Given the description of an element on the screen output the (x, y) to click on. 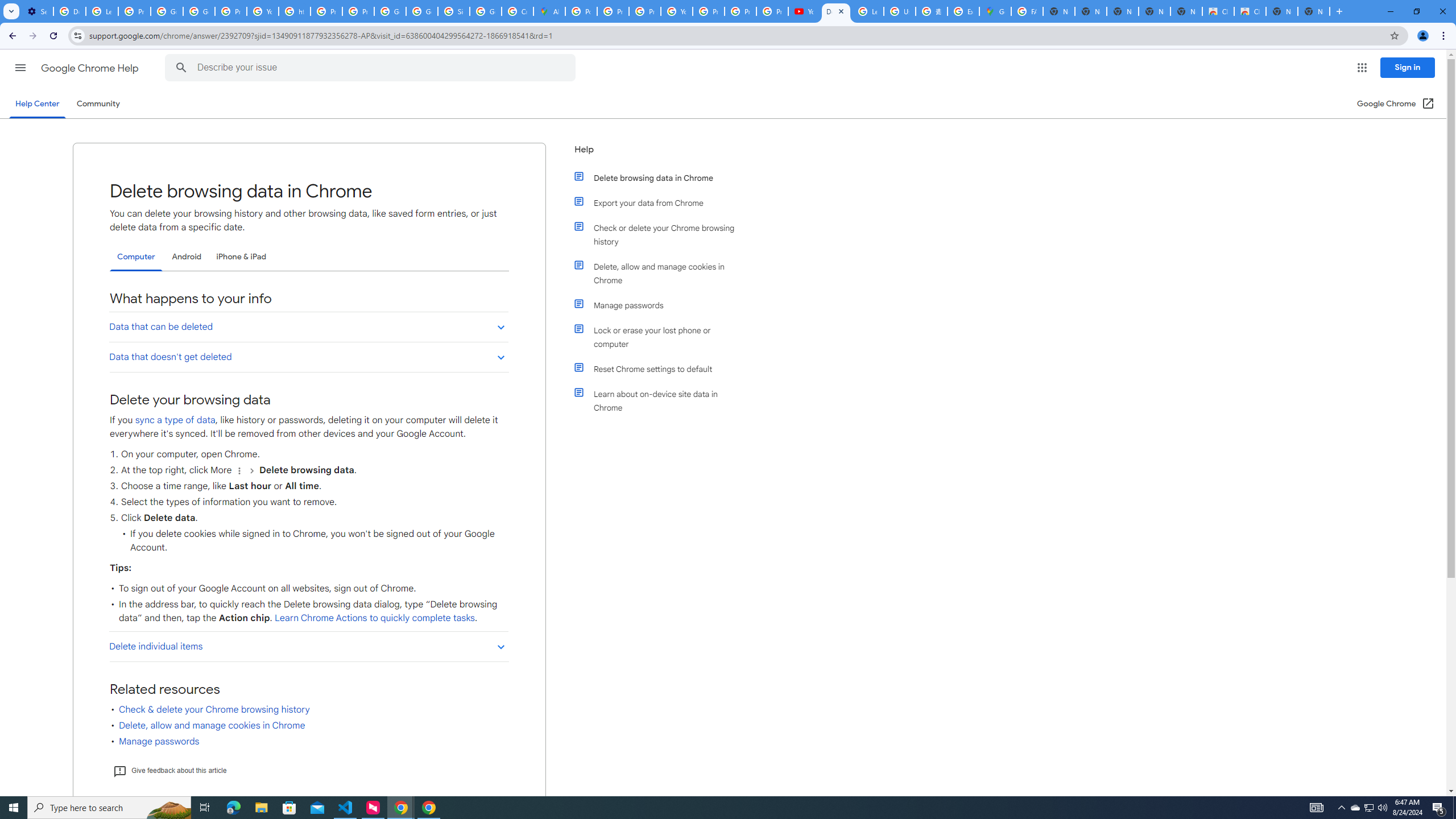
Data that can be deleted (308, 326)
Privacy Help Center - Policies Help (644, 11)
Privacy Checkup (740, 11)
Data that doesn't get deleted (308, 356)
and then (251, 470)
New Tab (1313, 11)
Google Maps (995, 11)
Describe your issue (371, 67)
Reset Chrome settings to default (661, 368)
